Given the description of an element on the screen output the (x, y) to click on. 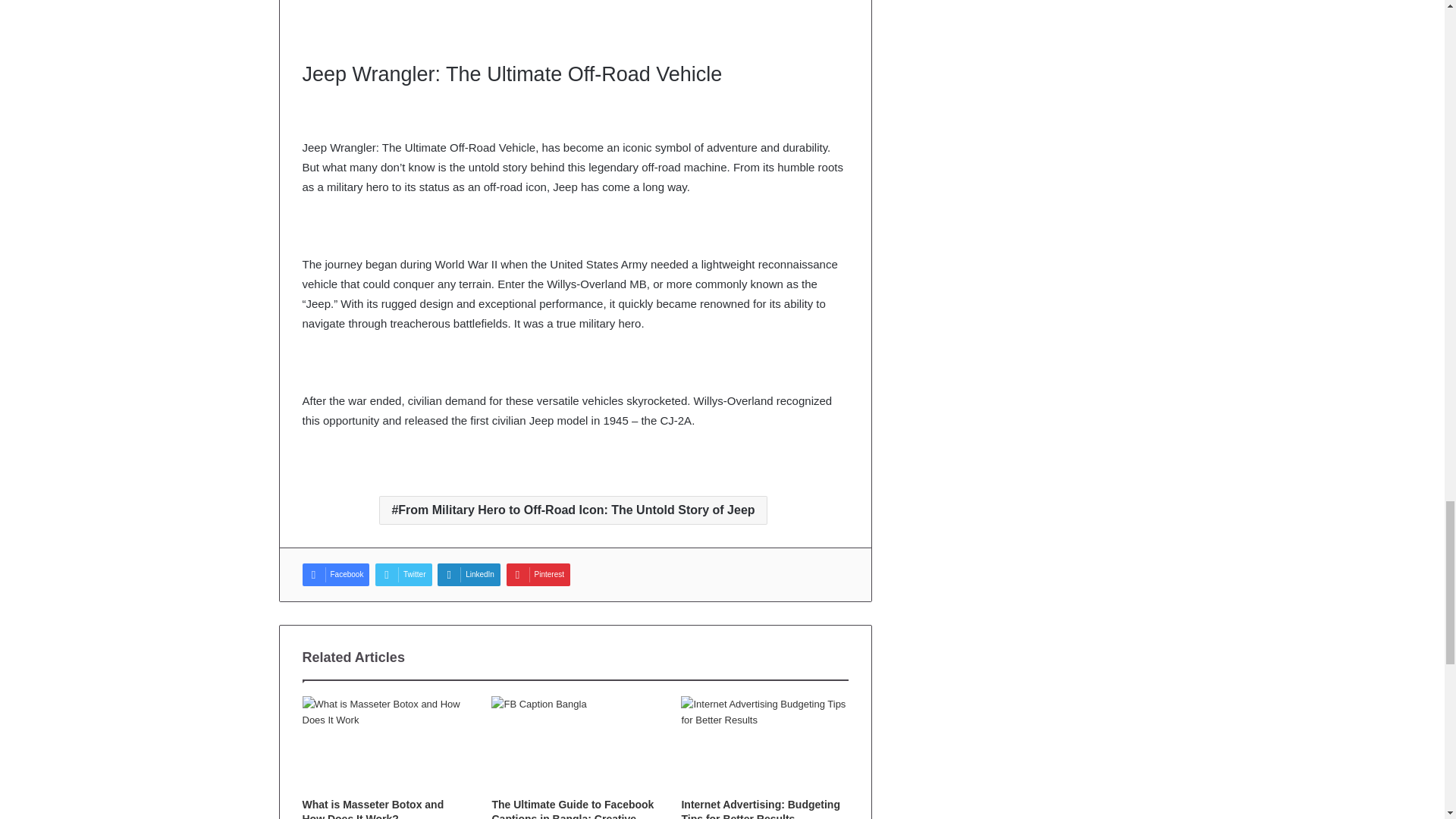
Twitter (402, 574)
Pinterest (538, 574)
Facebook (335, 574)
What is Masseter Botox and How Does It Work? (372, 808)
Twitter (402, 574)
LinkedIn (469, 574)
Pinterest (538, 574)
Facebook (335, 574)
